Given the description of an element on the screen output the (x, y) to click on. 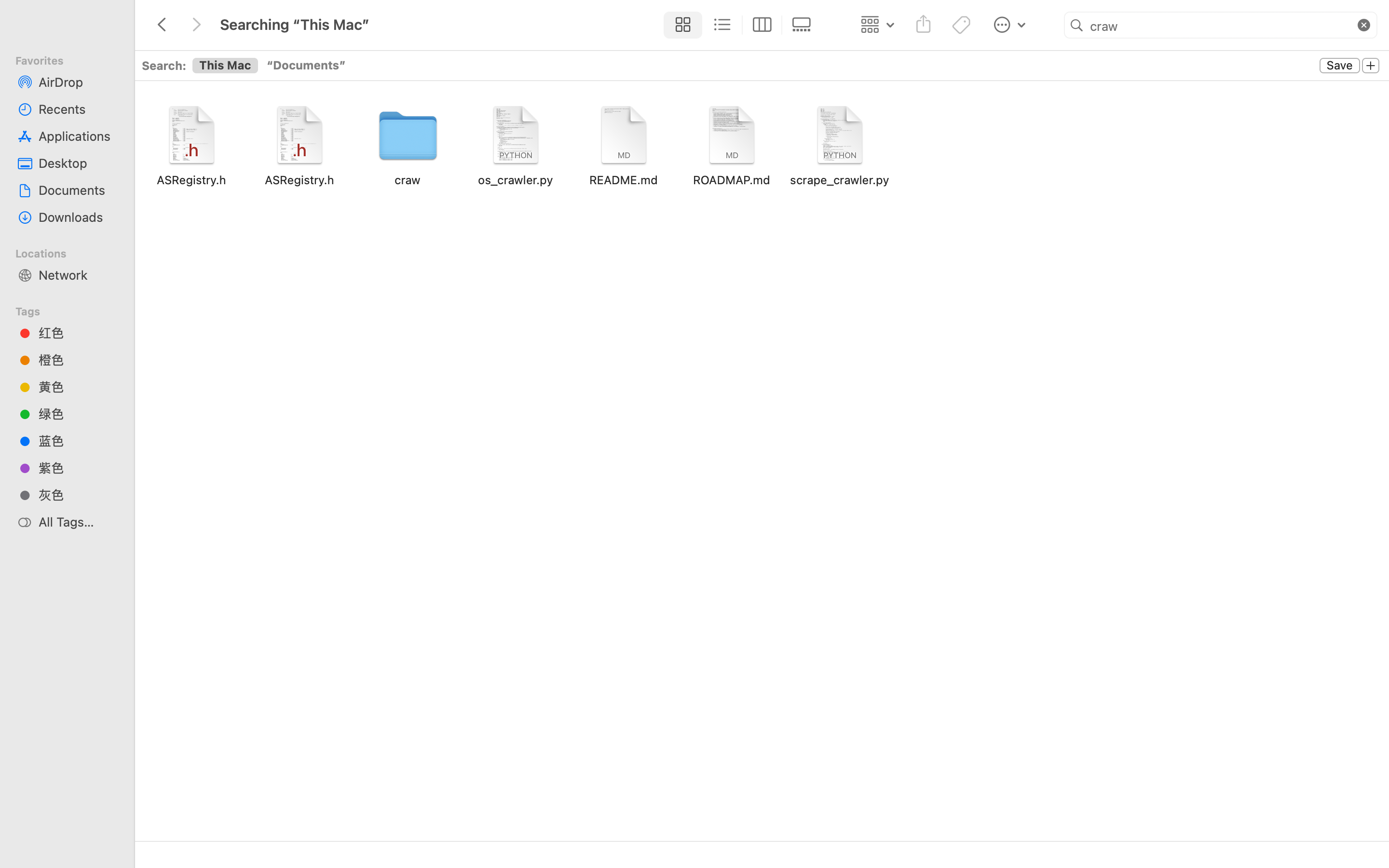
橙色 Element type: AXStaticText (77, 359)
Documents Element type: AXStaticText (77, 189)
AirDrop Element type: AXStaticText (77, 81)
灰色 Element type: AXStaticText (77, 494)
蓝色 Element type: AXStaticText (77, 440)
